Given the description of an element on the screen output the (x, y) to click on. 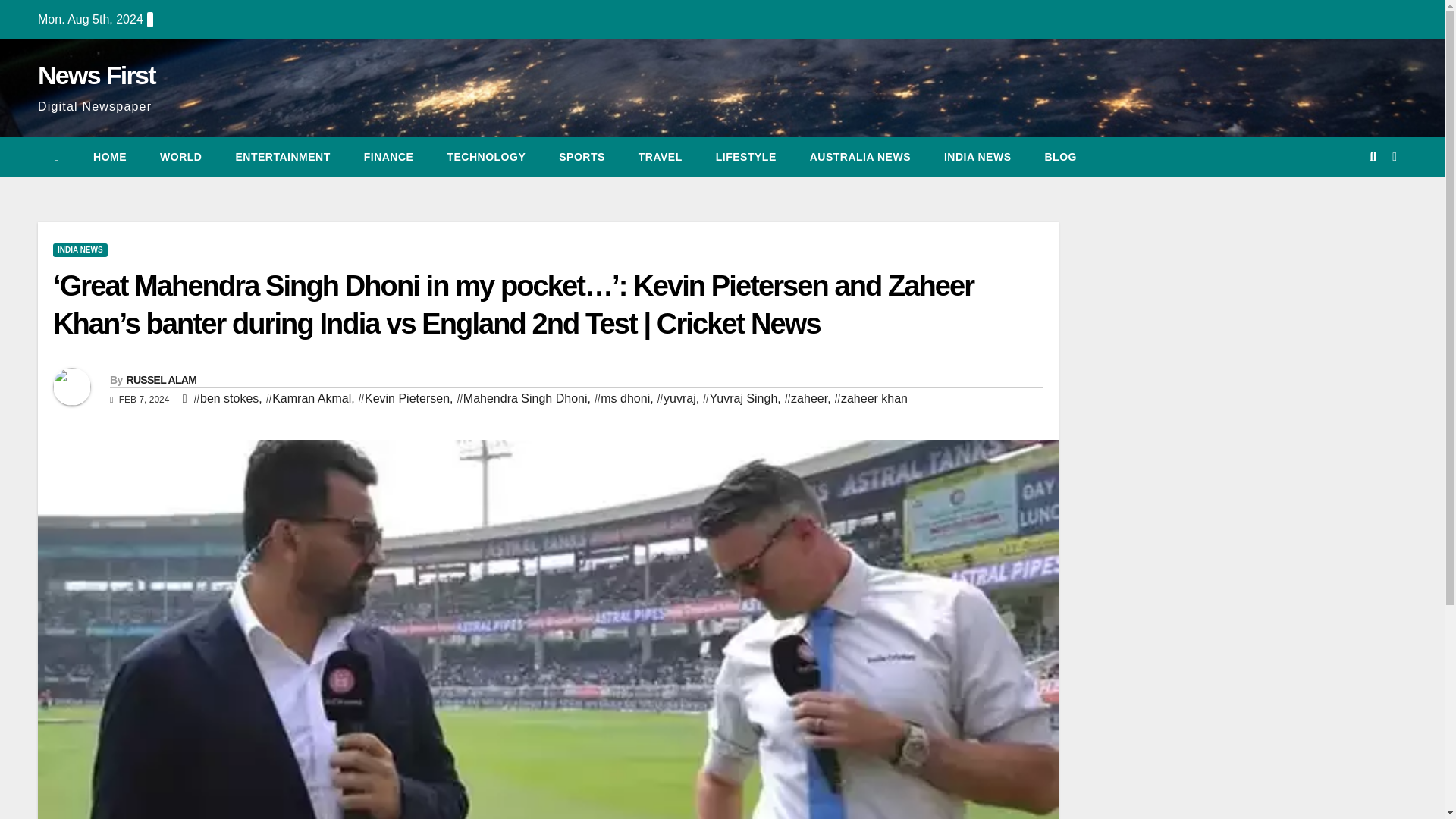
Home (109, 156)
Sports (581, 156)
Travel (659, 156)
India News (977, 156)
World (180, 156)
LIFESTYLE (745, 156)
ENTERTAINMENT (282, 156)
AUSTRALIA NEWS (860, 156)
TECHNOLOGY (485, 156)
TRAVEL (659, 156)
FINANCE (388, 156)
RUSSEL ALAM (160, 379)
WORLD (180, 156)
BLOG (1060, 156)
Lifestyle (745, 156)
